Given the description of an element on the screen output the (x, y) to click on. 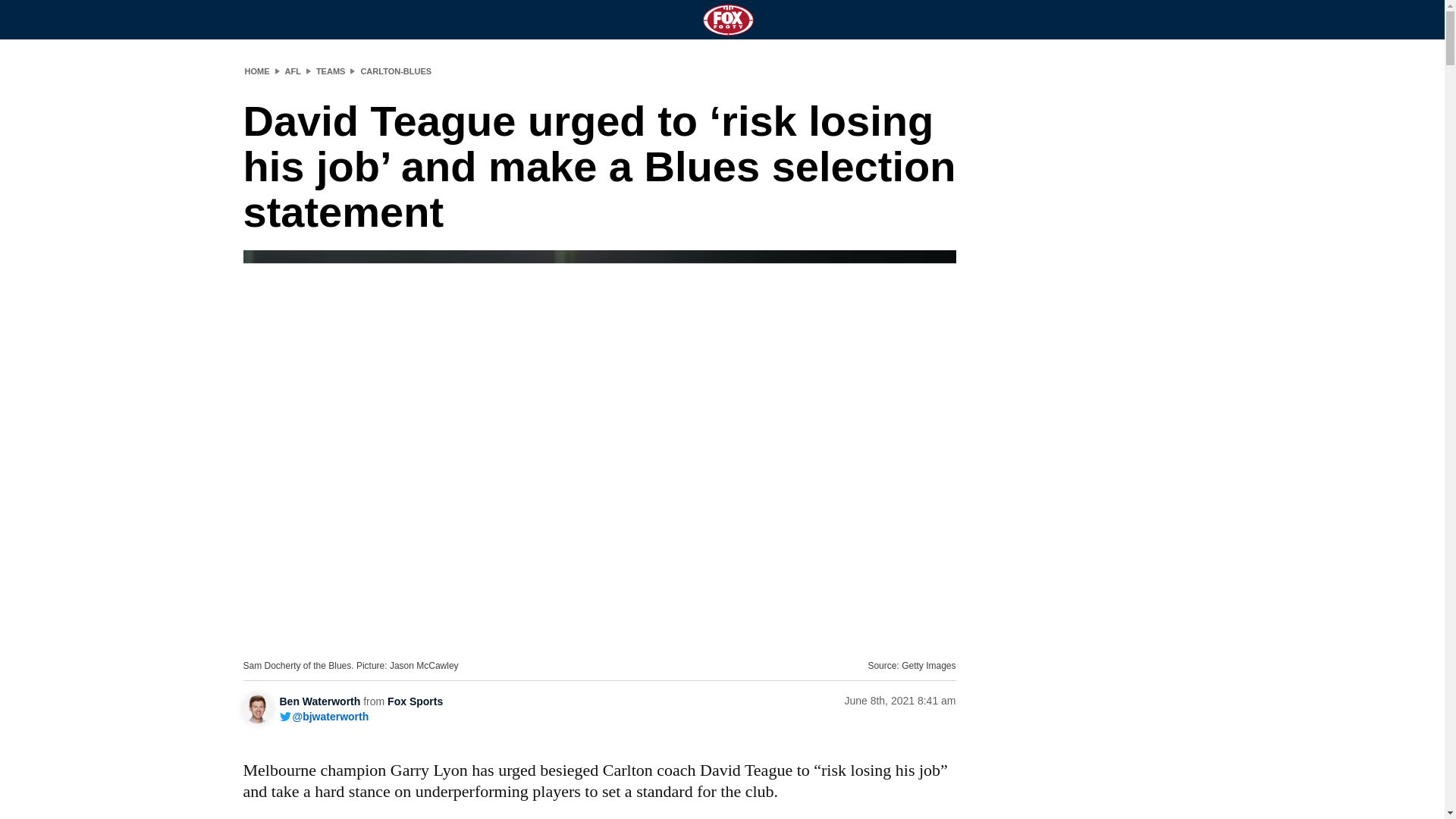
AFL (292, 71)
CARLTON-BLUES (395, 71)
TEAMS (330, 71)
HOME (256, 71)
